Given the description of an element on the screen output the (x, y) to click on. 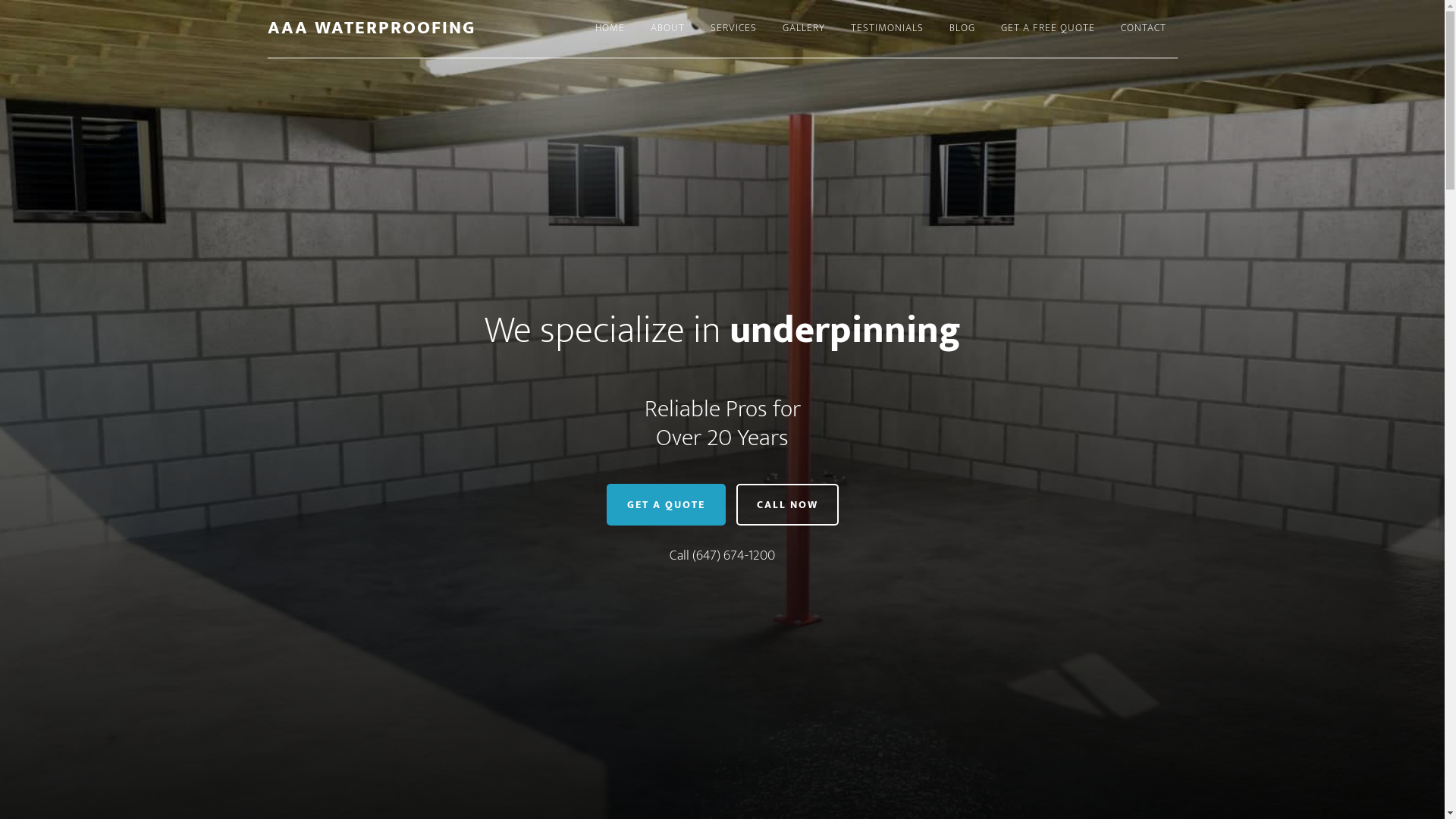
HOME Element type: text (609, 28)
TESTIMONIALS Element type: text (886, 28)
GET A QUOTE Element type: text (665, 504)
BLOG Element type: text (961, 28)
CONTACT Element type: text (1142, 28)
AAA WATERPROOFING Element type: text (370, 27)
ABOUT Element type: text (666, 28)
SERVICES Element type: text (733, 28)
GET A FREE QUOTE Element type: text (1046, 28)
Skip to main content Element type: text (0, 0)
GALLERY Element type: text (802, 28)
CALL NOW Element type: text (786, 504)
